Given the description of an element on the screen output the (x, y) to click on. 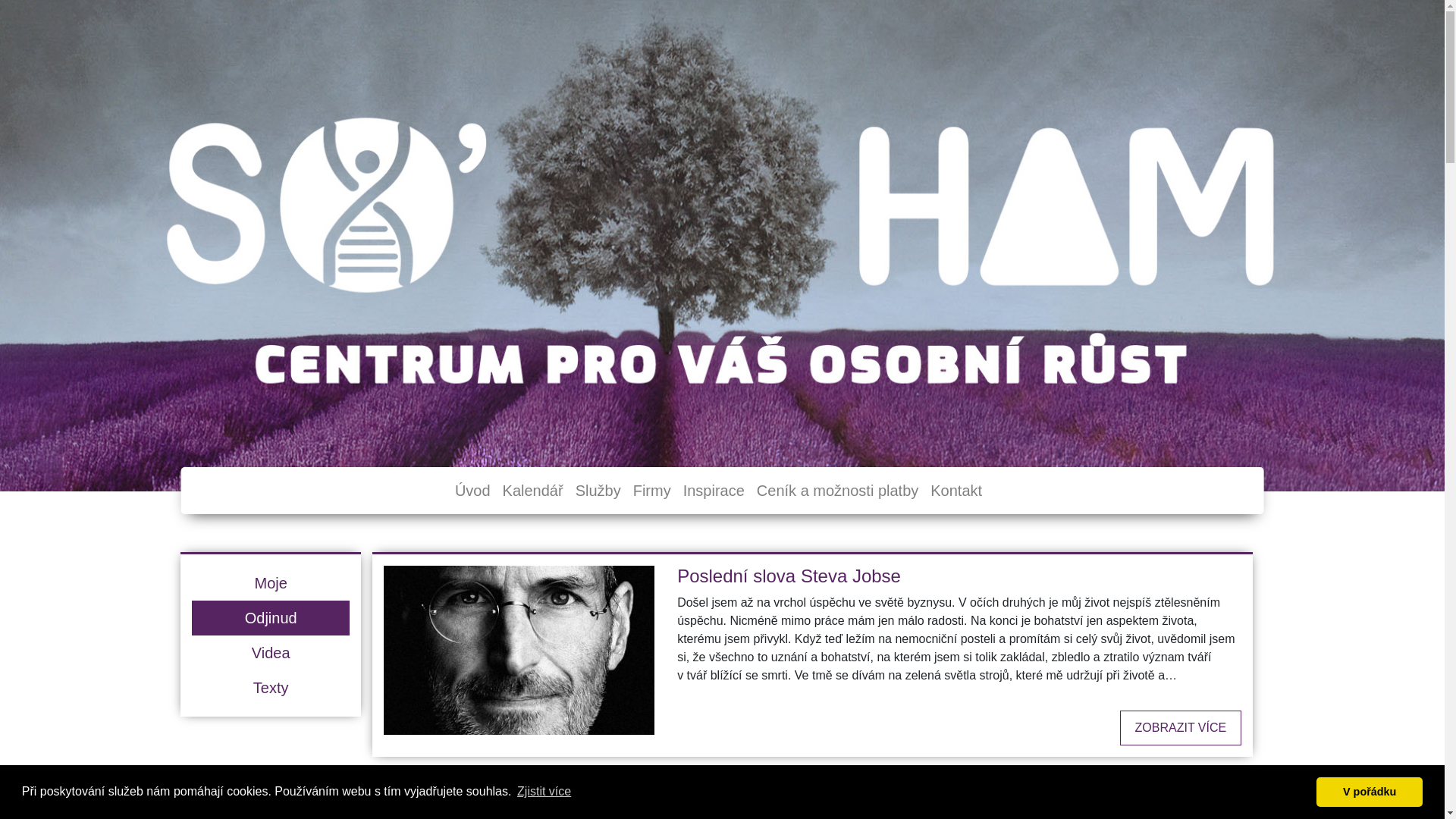
Moje Element type: text (270, 582)
Texty Element type: text (270, 687)
Videa Element type: text (270, 652)
Firmy Element type: text (652, 490)
Odjinud Element type: text (270, 617)
Inspirace Element type: text (713, 490)
Kontakt Element type: text (956, 490)
